Given the description of an element on the screen output the (x, y) to click on. 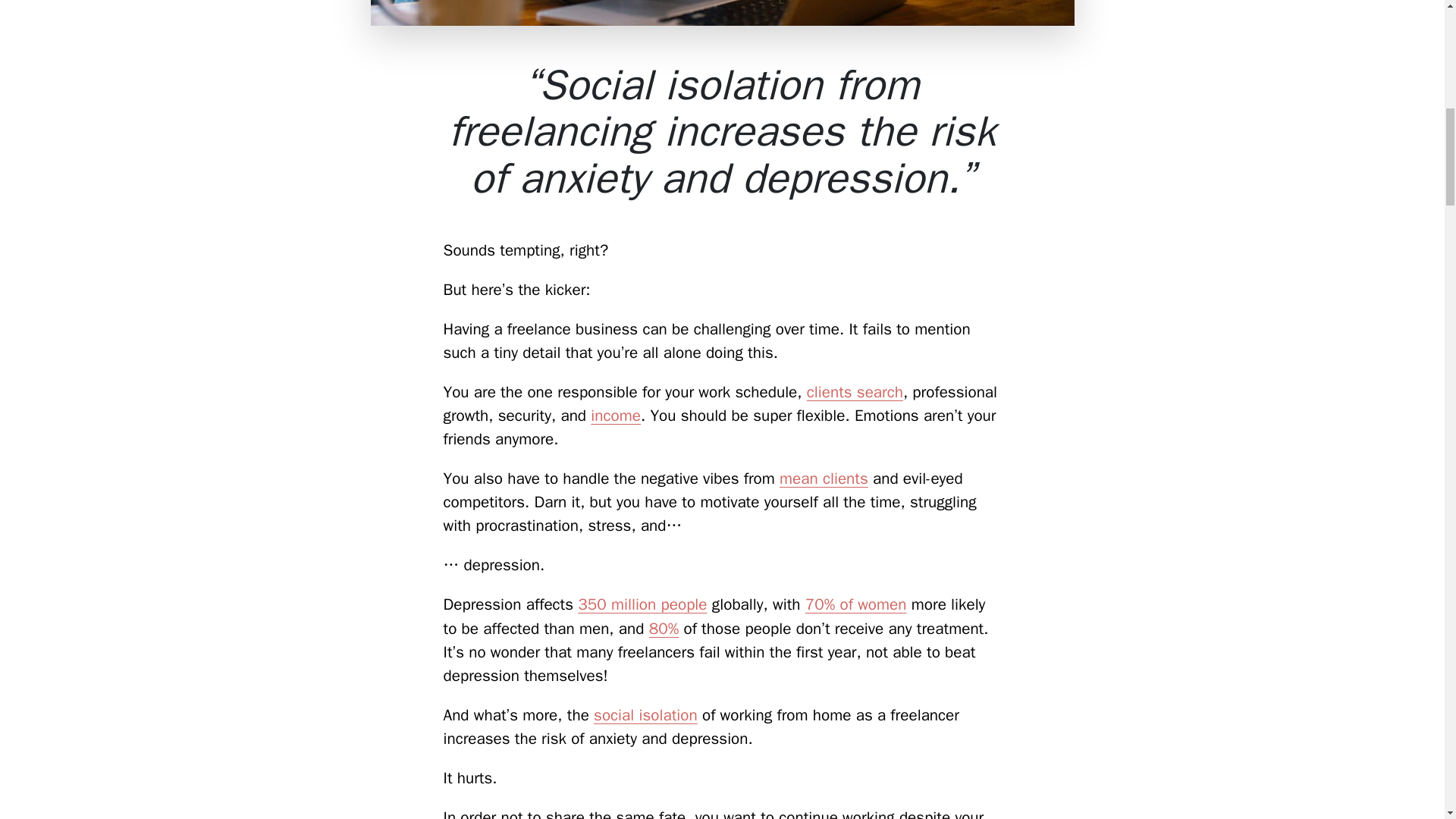
income (615, 415)
social isolation (645, 714)
clients search (854, 392)
mean clients (822, 478)
350 million people (642, 604)
